Given the description of an element on the screen output the (x, y) to click on. 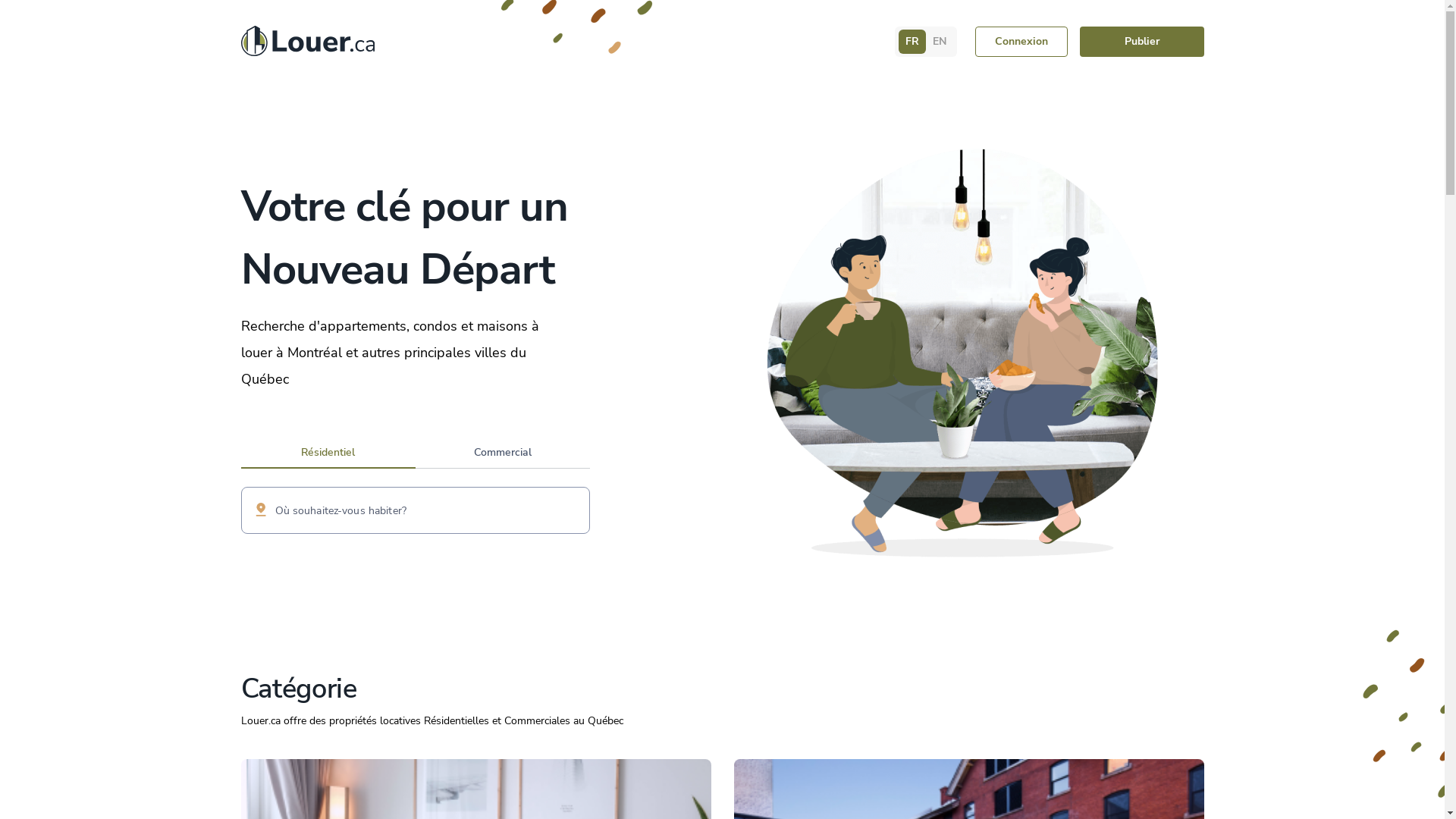
Commercial Element type: text (502, 454)
Connexion Element type: text (1021, 41)
Publier Element type: text (1141, 41)
